Given the description of an element on the screen output the (x, y) to click on. 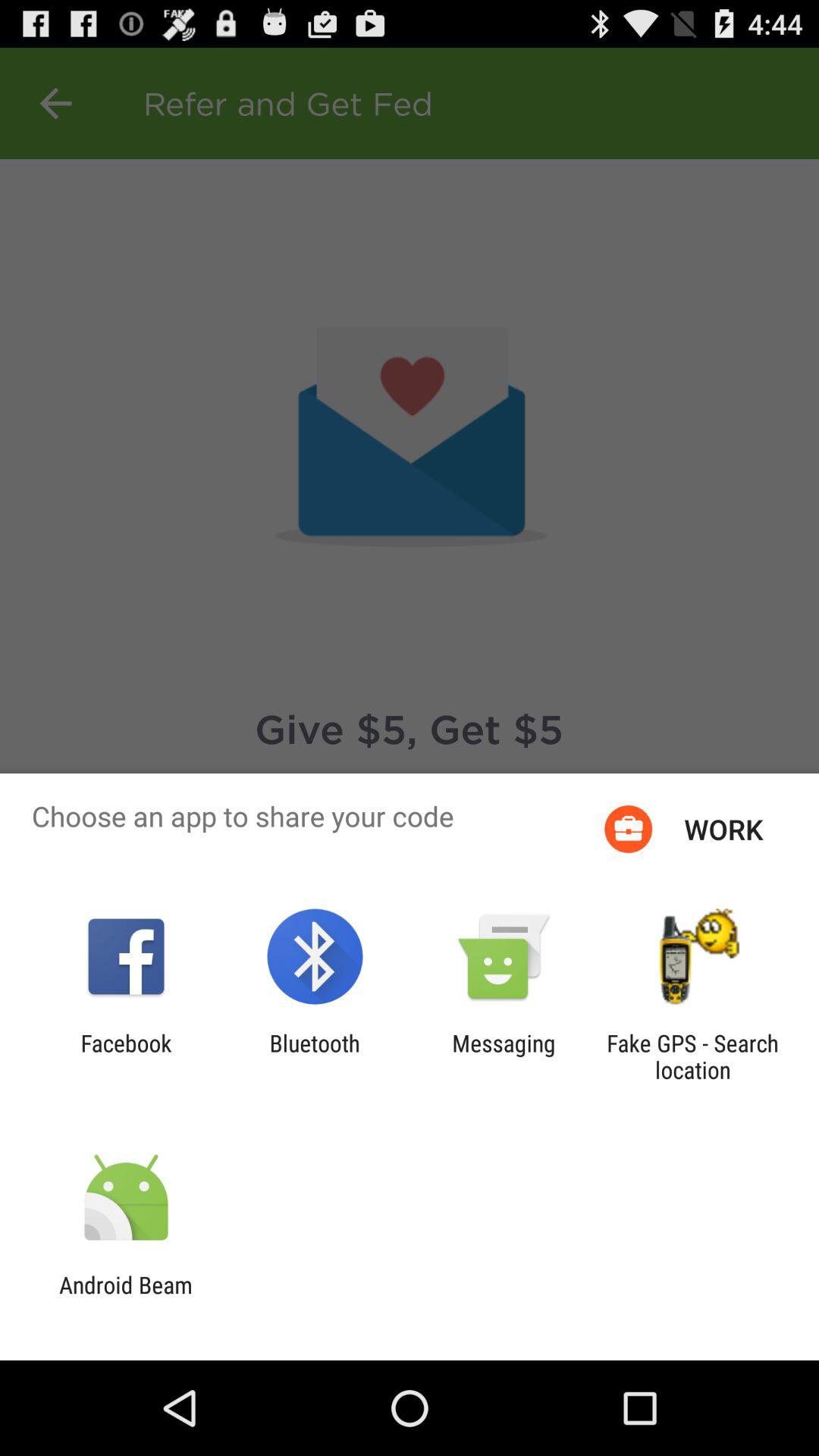
turn on the messaging app (503, 1056)
